Given the description of an element on the screen output the (x, y) to click on. 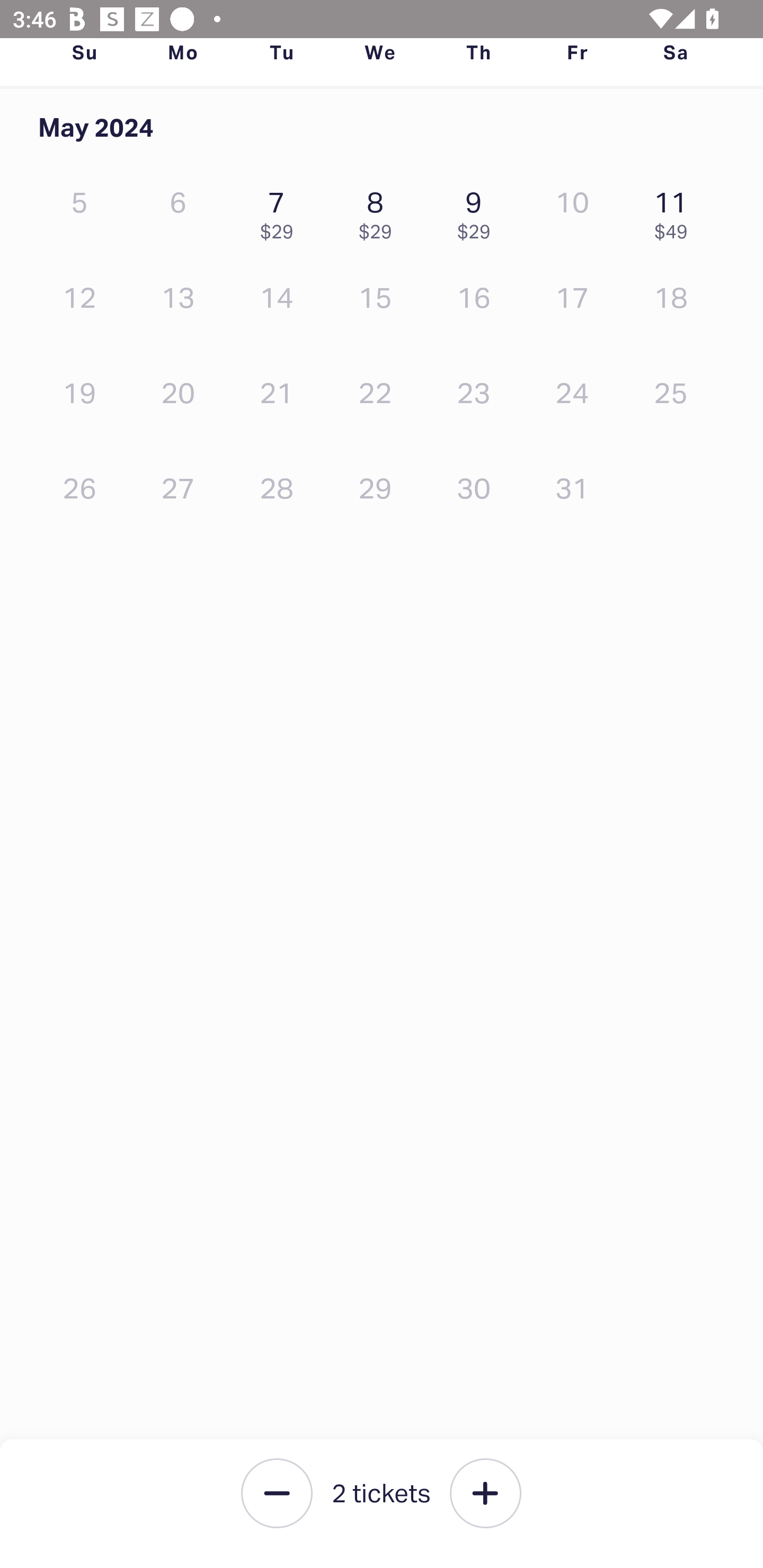
7 $29 (281, 210)
8 $29 (379, 210)
9 $29 (478, 210)
11 $49 (675, 210)
